Given the description of an element on the screen output the (x, y) to click on. 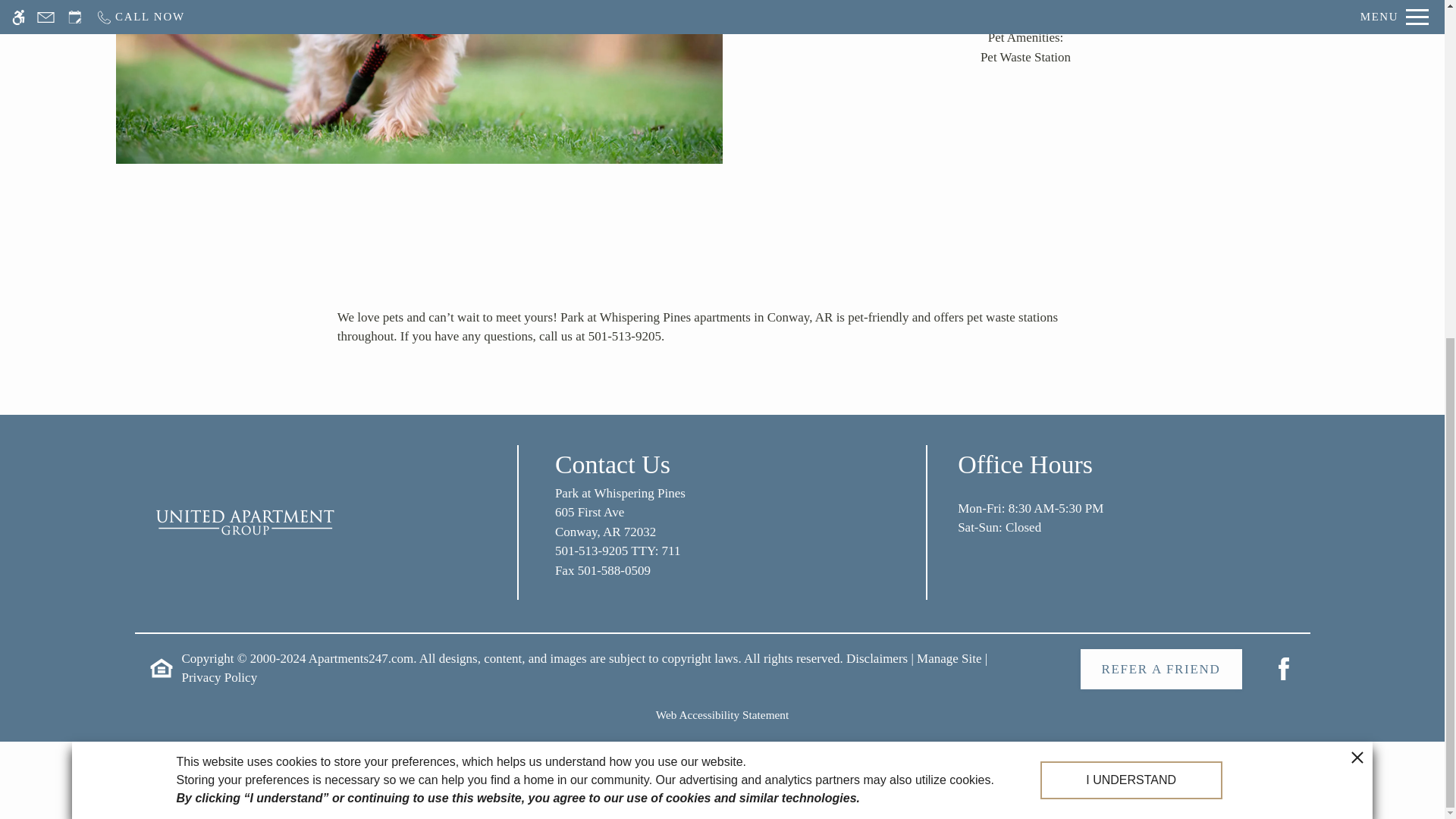
United Apartment Group (721, 529)
Edit Webiste Content (244, 522)
eho policy (949, 658)
